Given the description of an element on the screen output the (x, y) to click on. 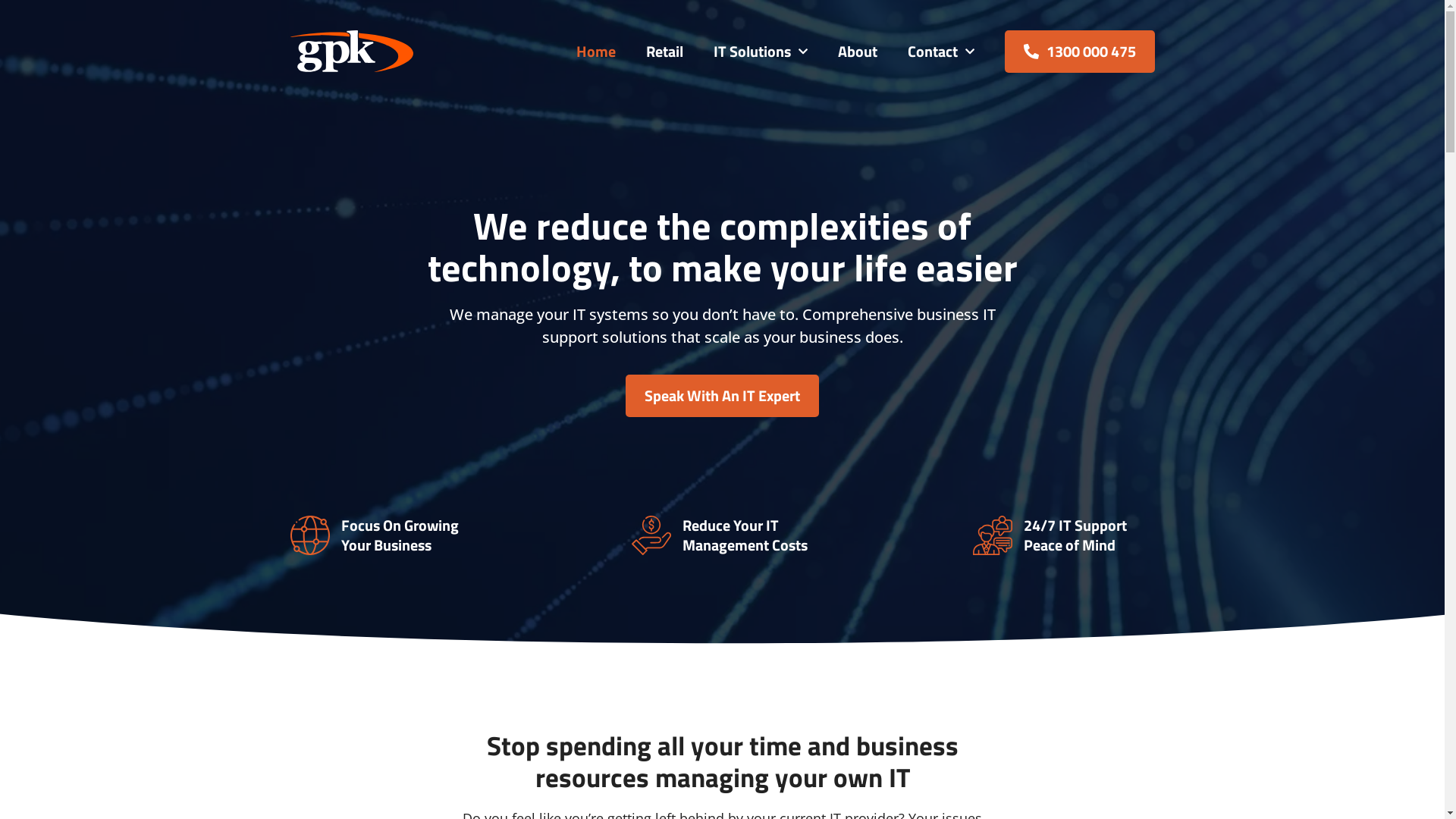
Home Element type: text (595, 50)
Retail Element type: text (664, 50)
1300 000 475 Element type: text (1079, 51)
IT Solutions Element type: text (759, 50)
Speak With An IT Expert Element type: text (722, 395)
Contact Element type: text (939, 50)
About Element type: text (856, 50)
